Given the description of an element on the screen output the (x, y) to click on. 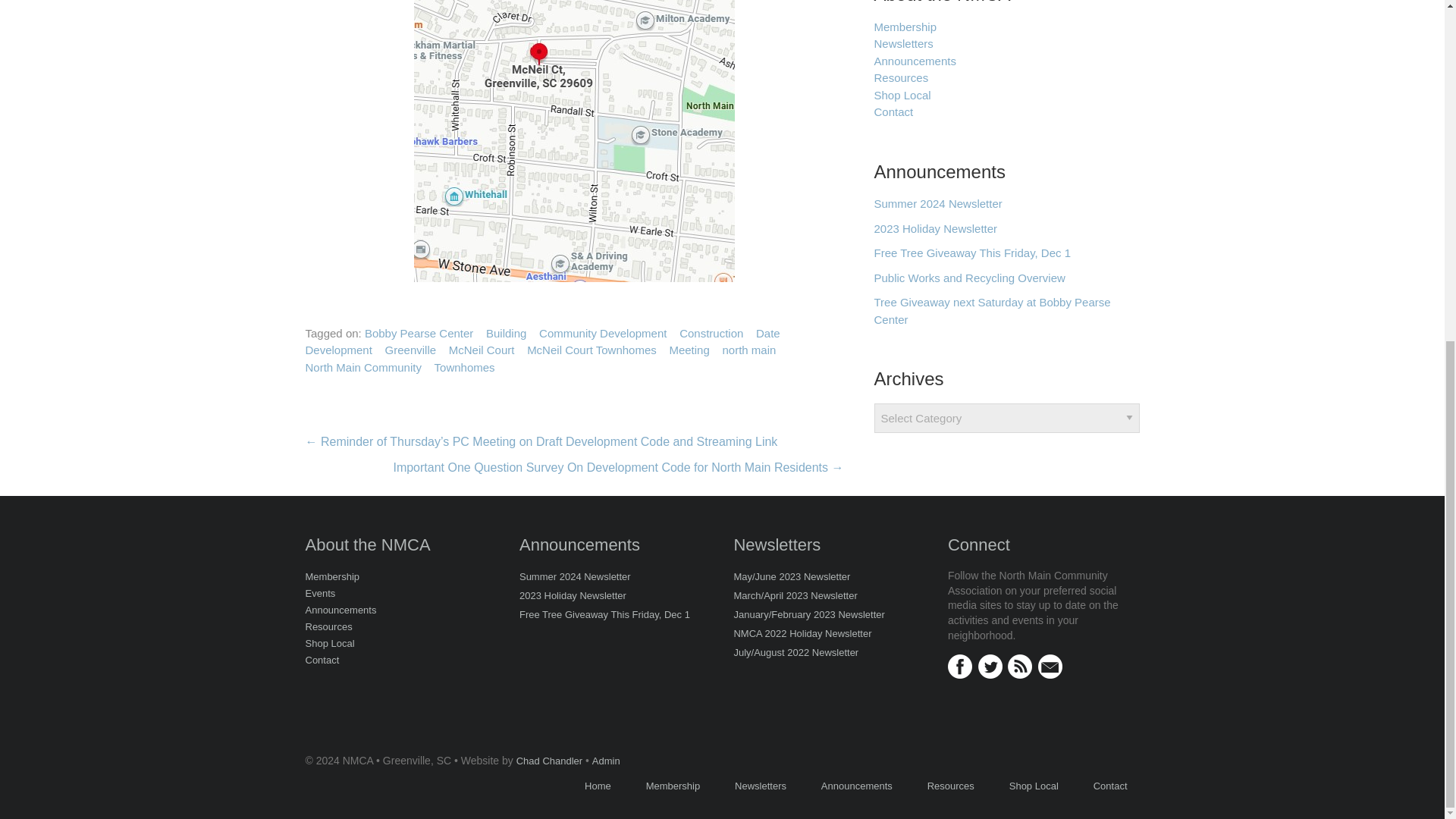
Date (767, 334)
Greenville (410, 350)
McNeil Court Townhomes (591, 350)
Building (505, 334)
Announcements (914, 60)
Meeting (688, 350)
Connect with NMCA (959, 662)
North Main Community (362, 367)
Bobby Pearse Center (419, 334)
Townhomes (464, 367)
